Given the description of an element on the screen output the (x, y) to click on. 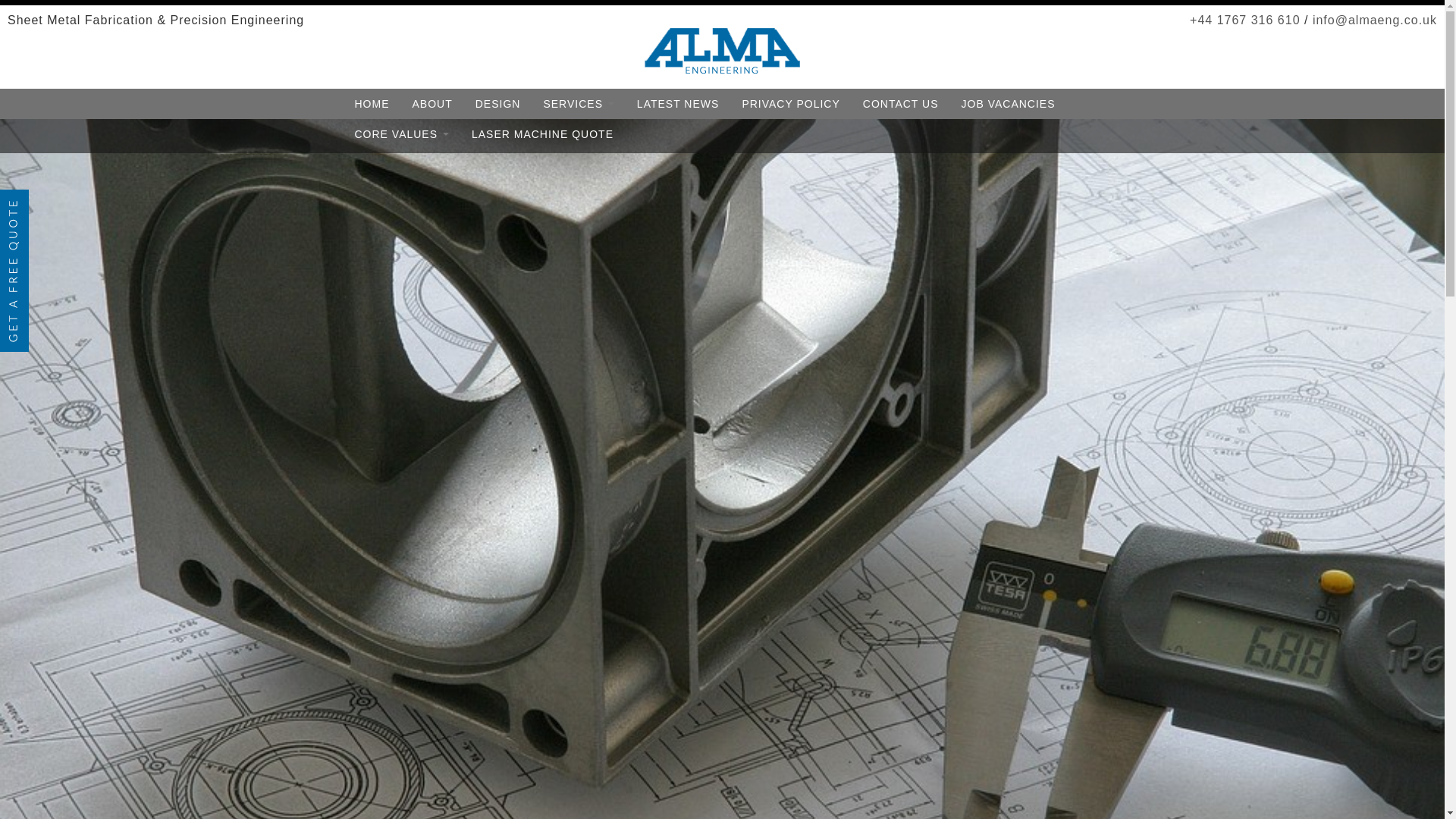
LATEST NEWS (678, 103)
PRIVACY POLICY (790, 103)
CORE VALUES (401, 133)
ABOUT (431, 103)
SERVICES (577, 103)
JOB VACANCIES (1008, 103)
HOME (371, 103)
DESIGN (498, 103)
CONTACT US (900, 103)
LASER MACHINE QUOTE (542, 133)
